Given the description of an element on the screen output the (x, y) to click on. 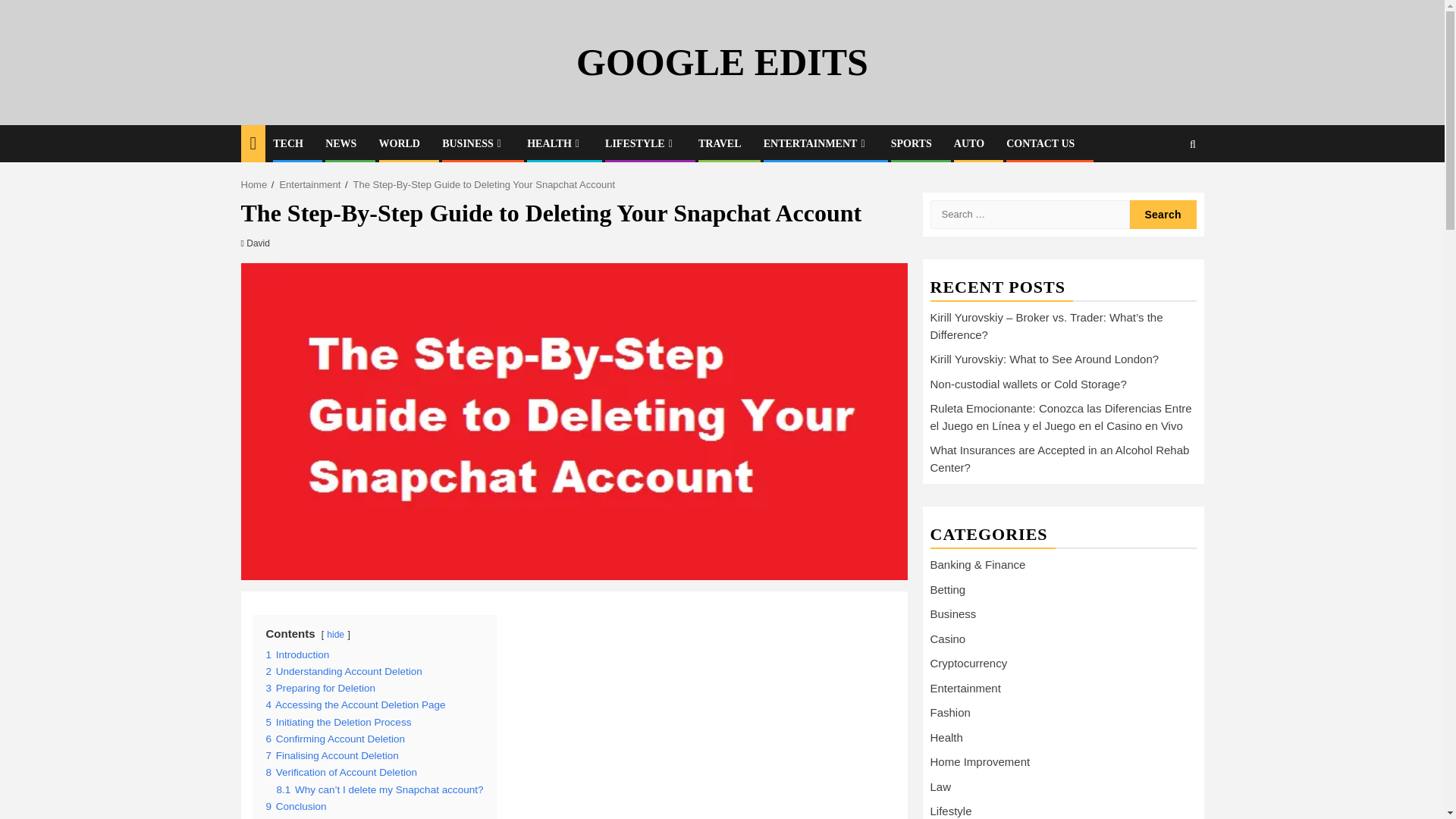
AUTO (968, 143)
CONTACT US (1040, 143)
Entertainment (309, 184)
NEWS (340, 143)
SPORTS (911, 143)
hide (334, 634)
2 Understanding Account Deletion (343, 671)
ENTERTAINMENT (815, 143)
Home (254, 184)
David (257, 243)
Search (1162, 214)
3 Preparing for Deletion (319, 687)
Search (1162, 214)
TECH (287, 143)
HEALTH (555, 143)
